Given the description of an element on the screen output the (x, y) to click on. 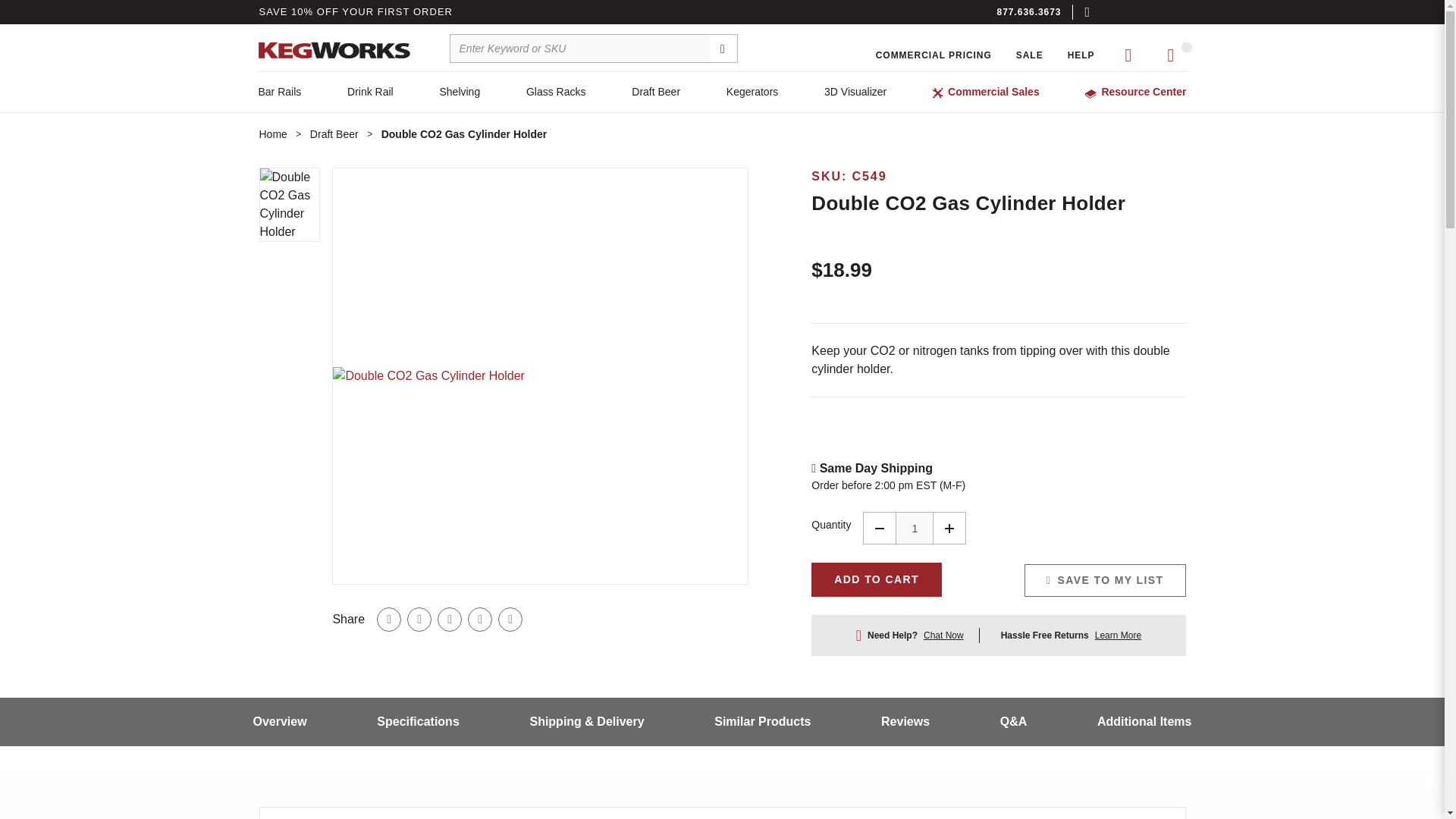
Add to Cart (876, 579)
1 (914, 527)
Enter keyword (593, 48)
Bar Rails (279, 92)
Search (723, 48)
